Given the description of an element on the screen output the (x, y) to click on. 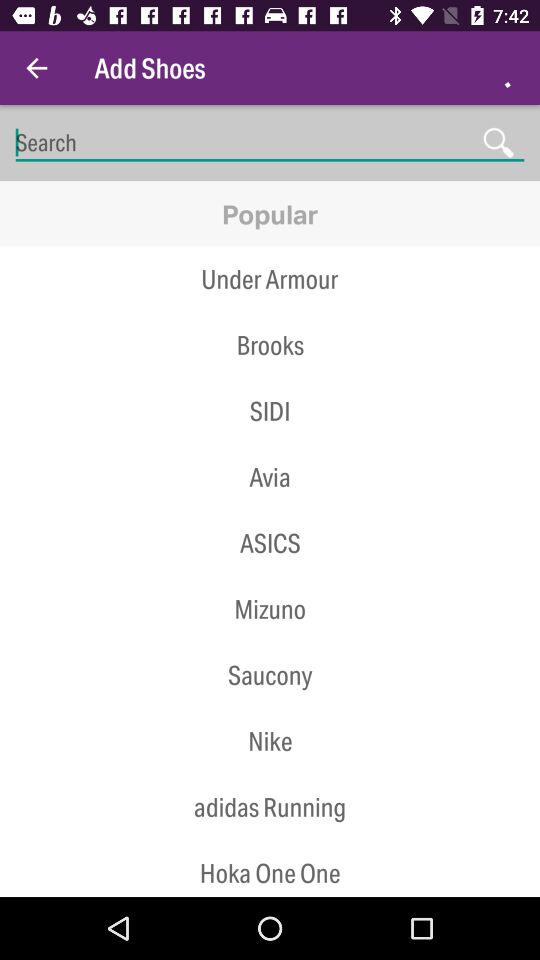
press the item below the saucony item (270, 740)
